Given the description of an element on the screen output the (x, y) to click on. 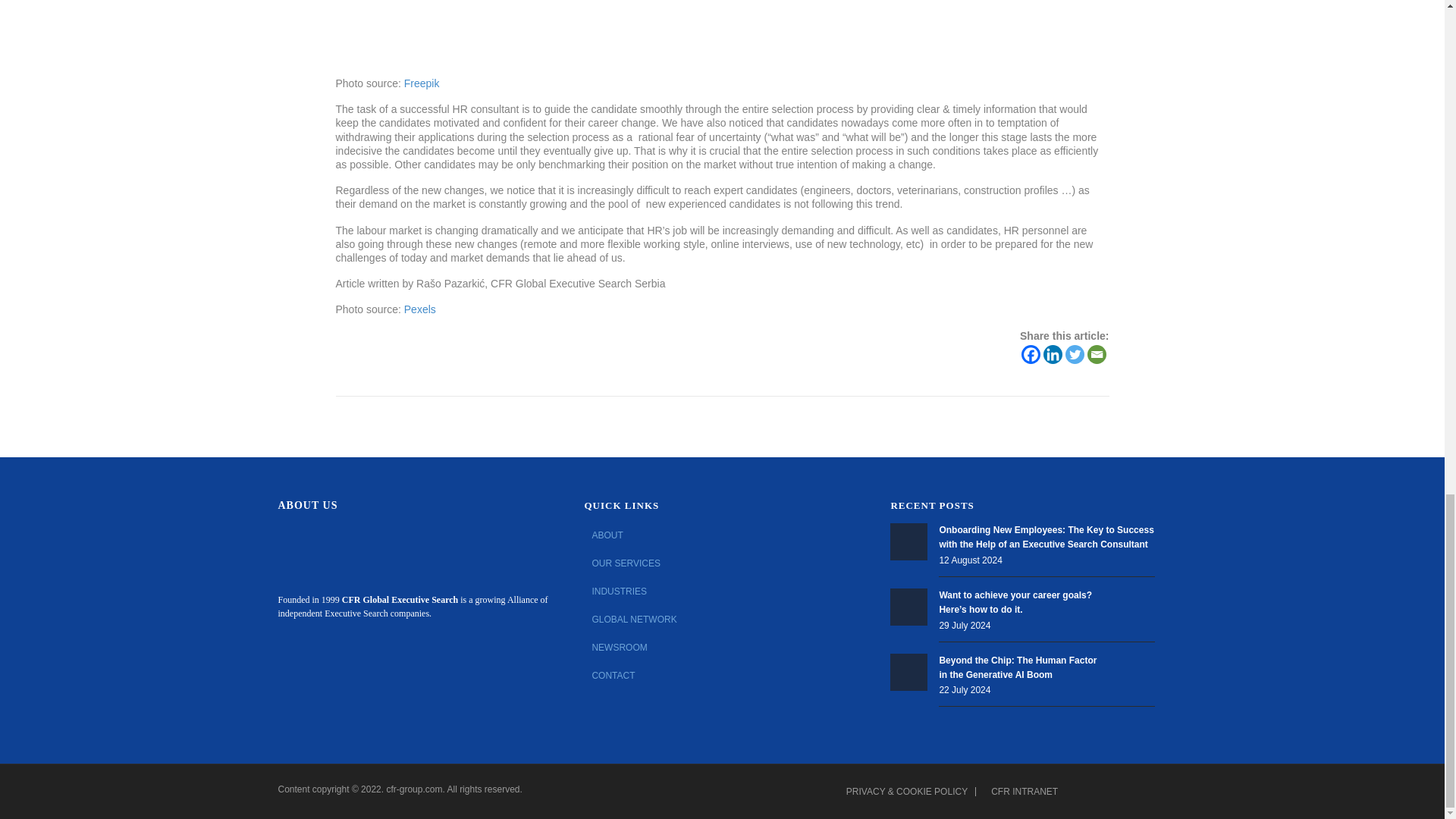
Twitter (1074, 353)
Beyond the Chip: The Human Factorin the Generative AI Boom (908, 672)
Pexels (419, 309)
Linkedin (1052, 353)
Beyond the Chip: The Human Factorin the Generative AI Boom (1017, 667)
Facebook (1031, 353)
Email (1096, 353)
Freepik (421, 82)
